Given the description of an element on the screen output the (x, y) to click on. 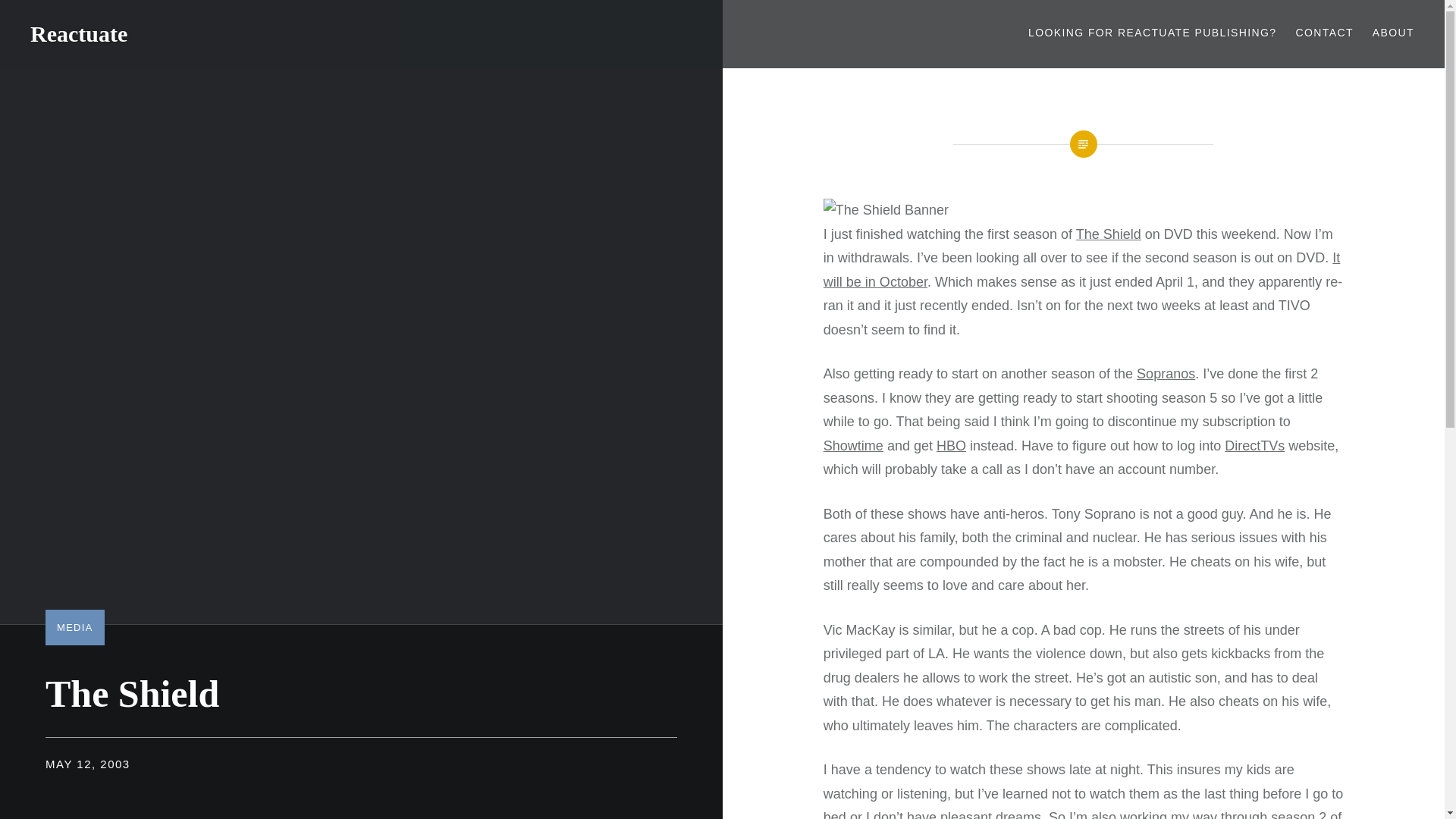
CONTACT (1323, 32)
DirectTVs (1254, 445)
Showtime (853, 445)
LOOKING FOR REACTUATE PUBLISHING? (1151, 32)
Search (284, 19)
It will be in October (1081, 269)
season 2 (1298, 814)
ABOUT (1393, 32)
HBO (951, 445)
Reactuate (79, 33)
